Given the description of an element on the screen output the (x, y) to click on. 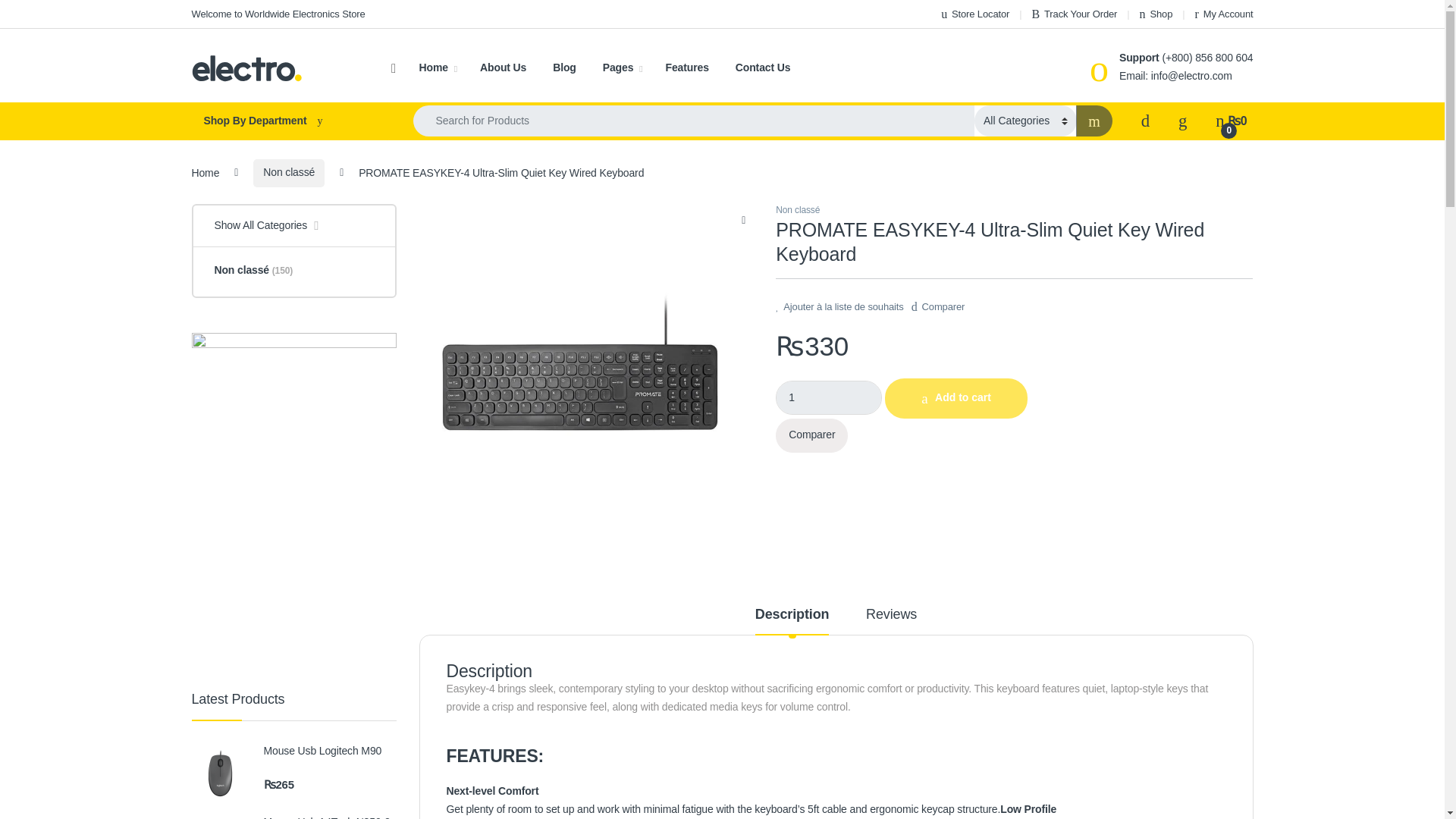
Store Locator (974, 13)
Shop (1156, 13)
Track Your Order (1073, 13)
Welcome to Worldwide Electronics Store (277, 13)
Store Locator (974, 13)
My Account (1224, 13)
My Account (1224, 13)
Shop (1156, 13)
1 (829, 397)
Track Your Order (1073, 13)
Welcome to Worldwide Electronics Store (277, 13)
